Given the description of an element on the screen output the (x, y) to click on. 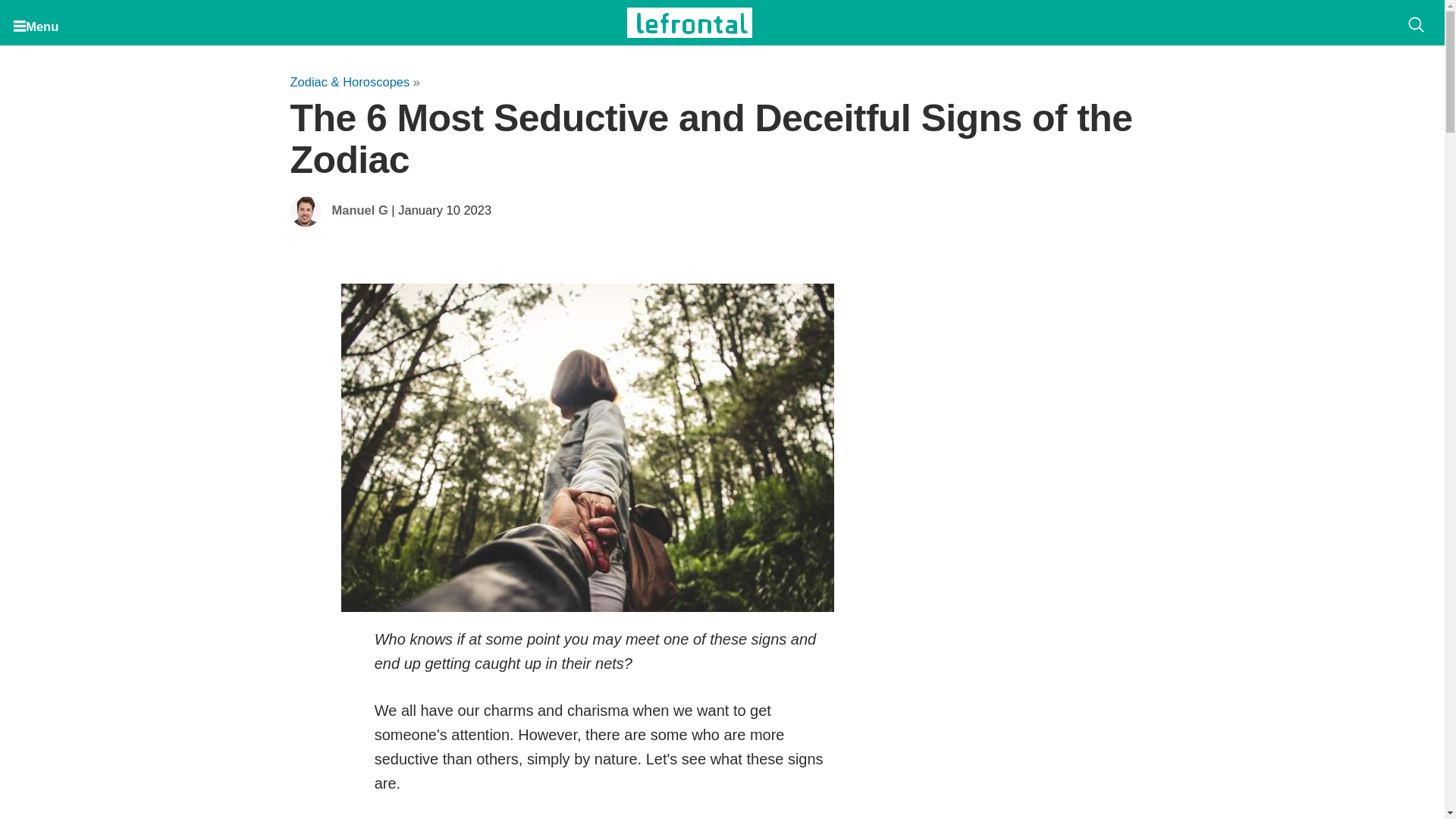
Menu (37, 23)
Manuel G (359, 210)
Lefrontal.com (689, 22)
Search (1415, 25)
